Given the description of an element on the screen output the (x, y) to click on. 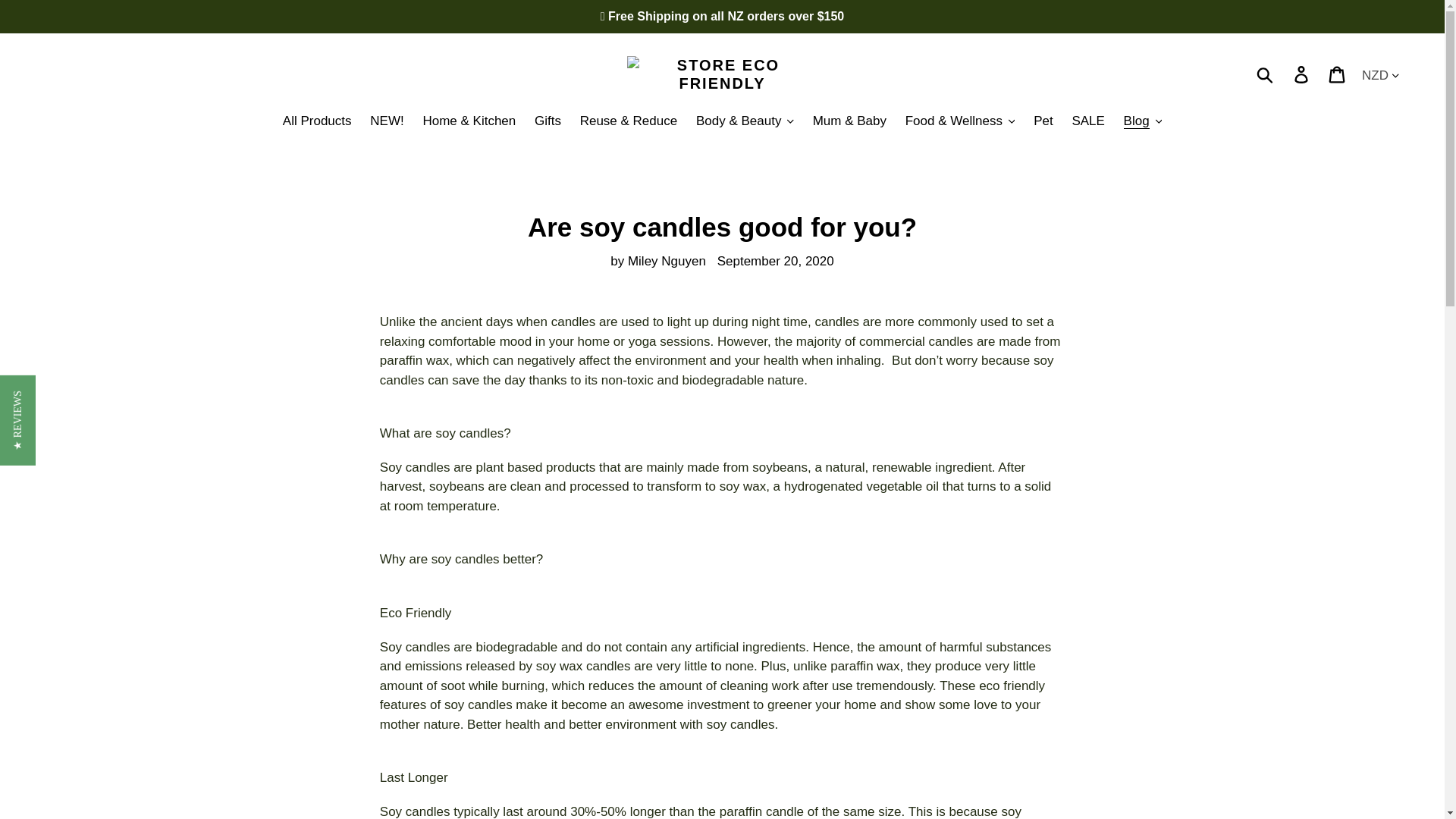
Submit (1265, 73)
Gifts (548, 122)
Cart (1337, 73)
All Products (317, 122)
Log in (1302, 73)
NEW! (386, 122)
